Given the description of an element on the screen output the (x, y) to click on. 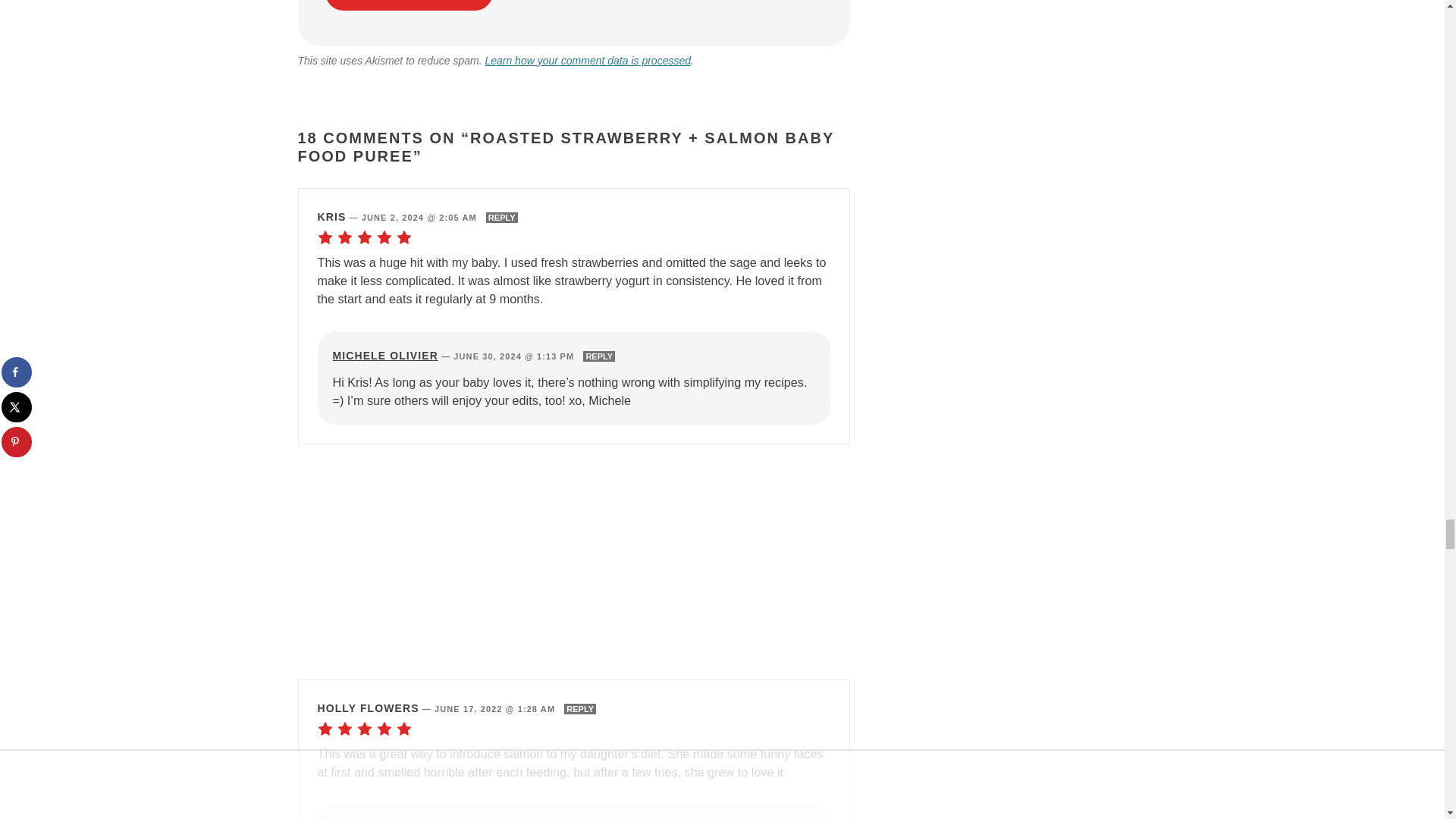
Post Comment (408, 5)
